Given the description of an element on the screen output the (x, y) to click on. 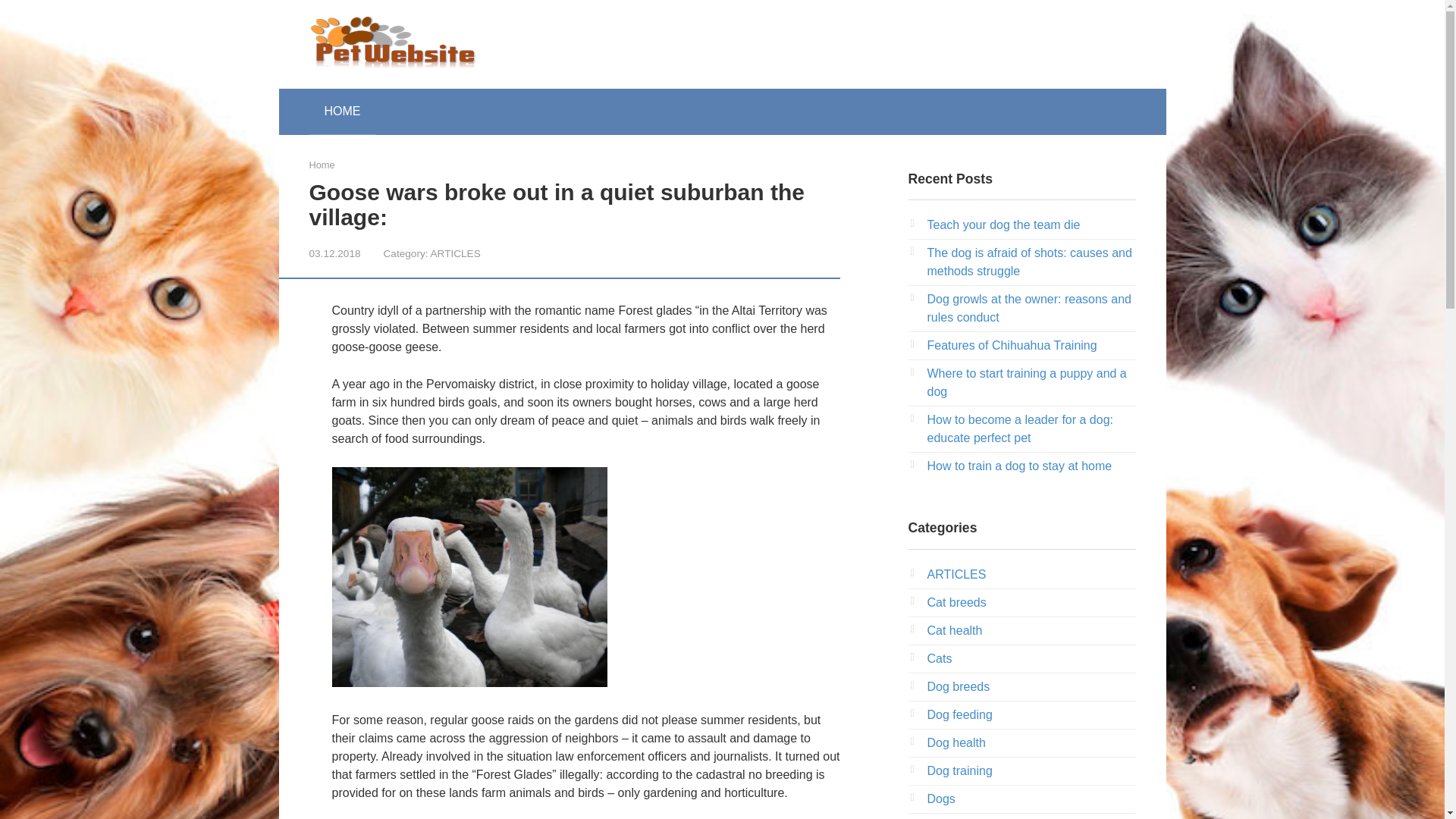
Dog feeding (958, 714)
ARTICLES (955, 574)
Dog breeds (958, 686)
ARTICLES (455, 253)
Dog growls at the owner: reasons and rules conduct (1028, 307)
Teach your dog the team die (1003, 224)
How to train a dog to stay at home (1019, 465)
Dog training (958, 770)
HOME (341, 111)
